Given the description of an element on the screen output the (x, y) to click on. 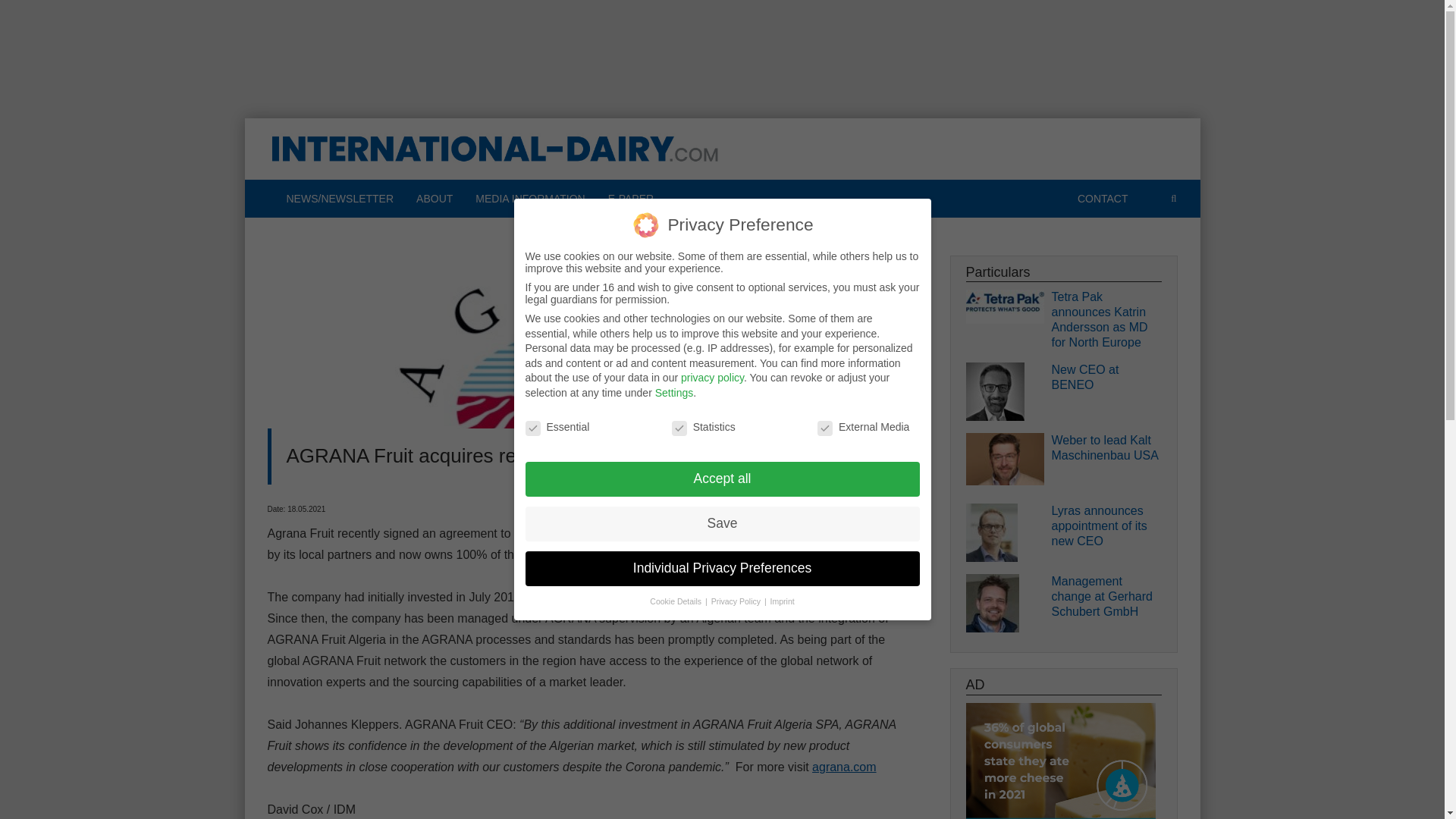
E-PAPER (630, 198)
agrana.com (844, 766)
ABOUT (434, 198)
Weber to lead Kalt Maschinenbau USA (1105, 448)
Tetra Pak announces Katrin Andersson as MD for North Europe (1105, 319)
Management change at Gerhard Schubert GmbH (1105, 596)
Lyras announces appointment of its new CEO (1105, 525)
New CEO at BENEO (1105, 377)
MEDIA INFORMATION (529, 198)
CONTACT (1102, 198)
